Given the description of an element on the screen output the (x, y) to click on. 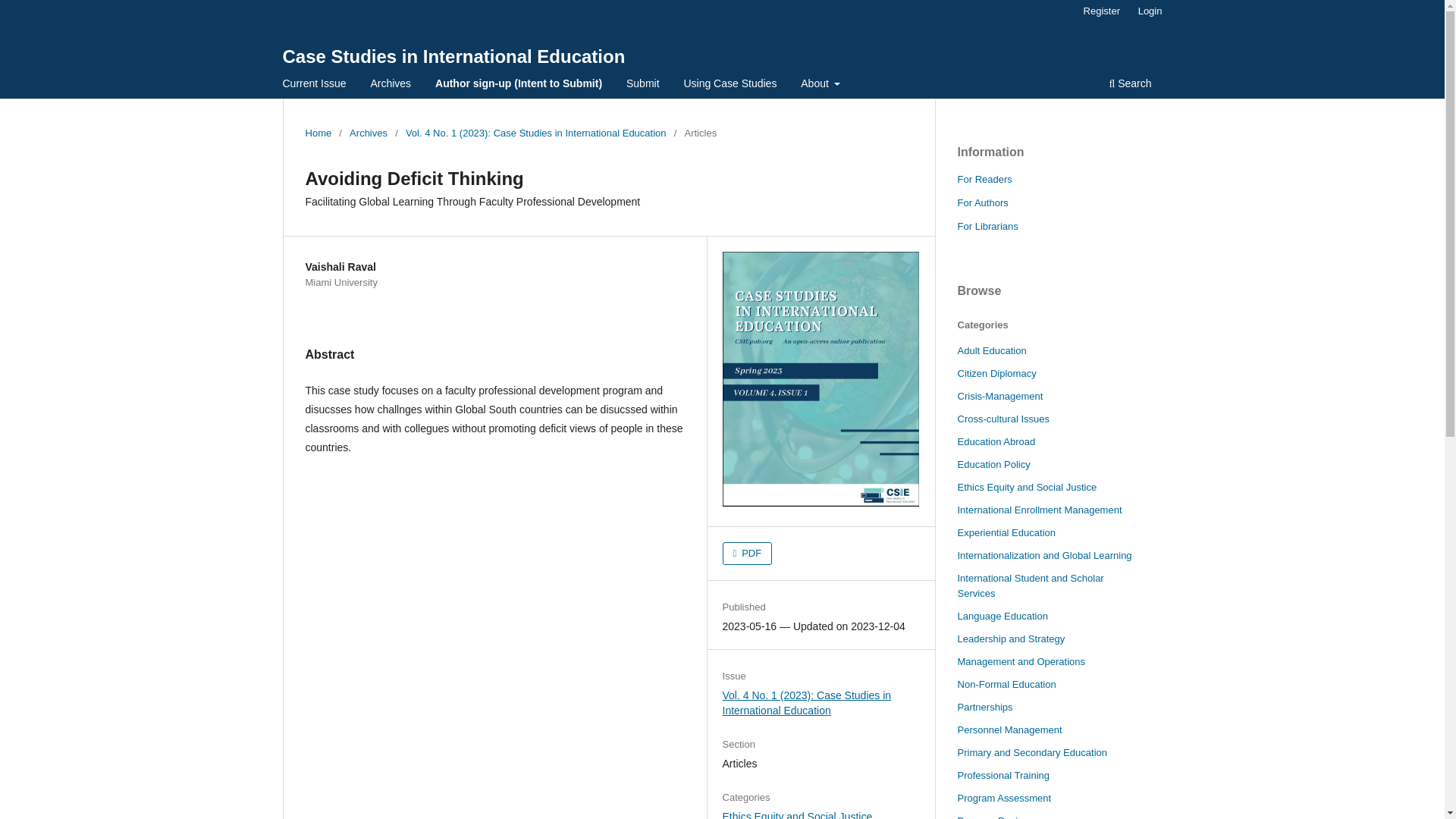
Citizen Diplomacy (995, 373)
Submit (643, 85)
For Readers (983, 179)
Archives (390, 85)
Login (1150, 11)
For Authors (981, 202)
Using Case Studies (729, 85)
Ethics Equity and Social Justice (797, 814)
Adult Education (991, 350)
For Librarians (986, 225)
Archives (368, 133)
Search (1129, 85)
PDF (747, 553)
Case Studies in International Education (453, 56)
Register (1100, 11)
